Given the description of an element on the screen output the (x, y) to click on. 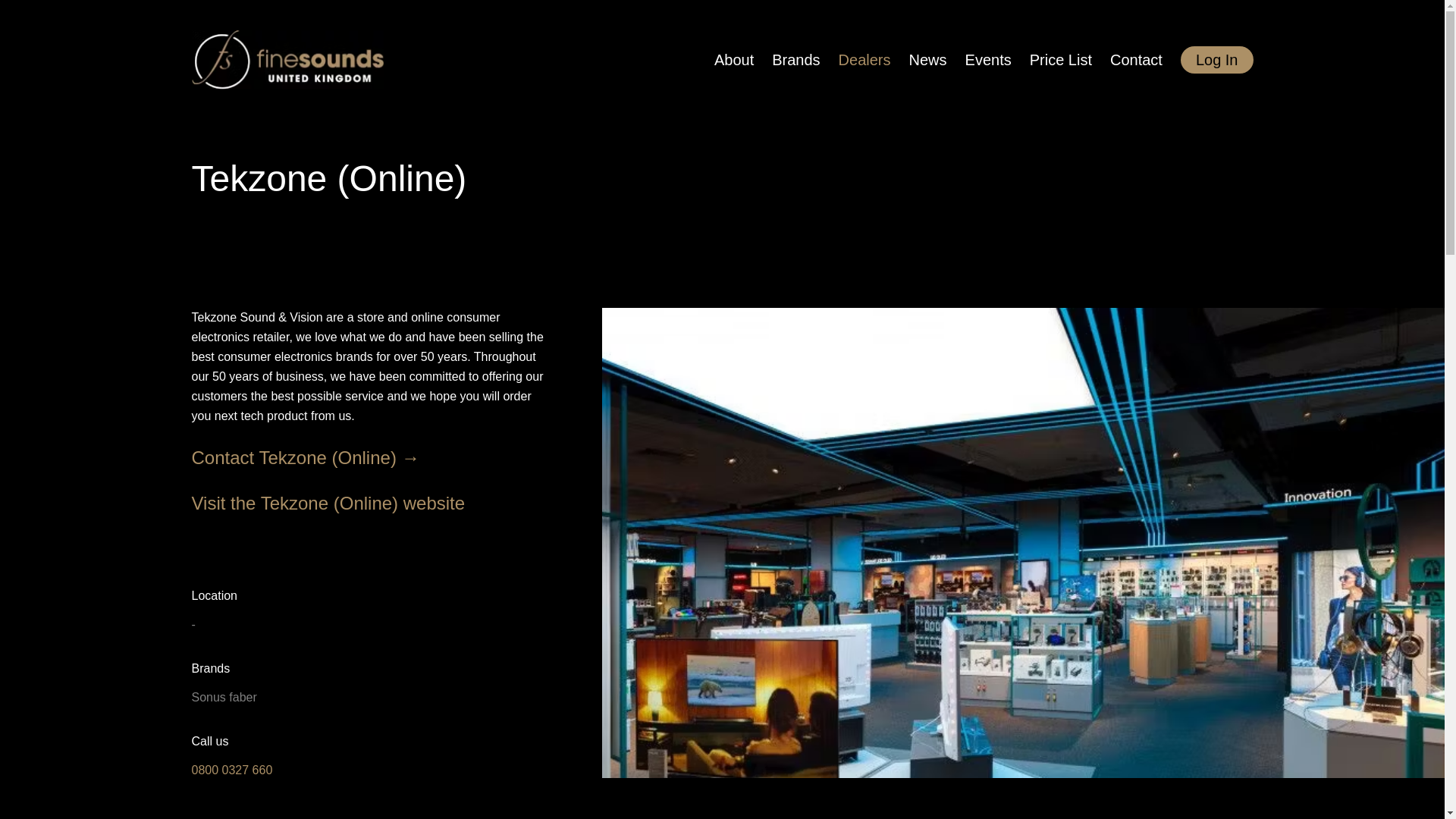
About (733, 102)
Dealers (864, 84)
News (927, 77)
Price List (1060, 67)
Brands (795, 93)
Log In (1216, 61)
0800 0327 660 (231, 769)
Events (988, 73)
Log In (1216, 59)
Contact (1136, 62)
